Given the description of an element on the screen output the (x, y) to click on. 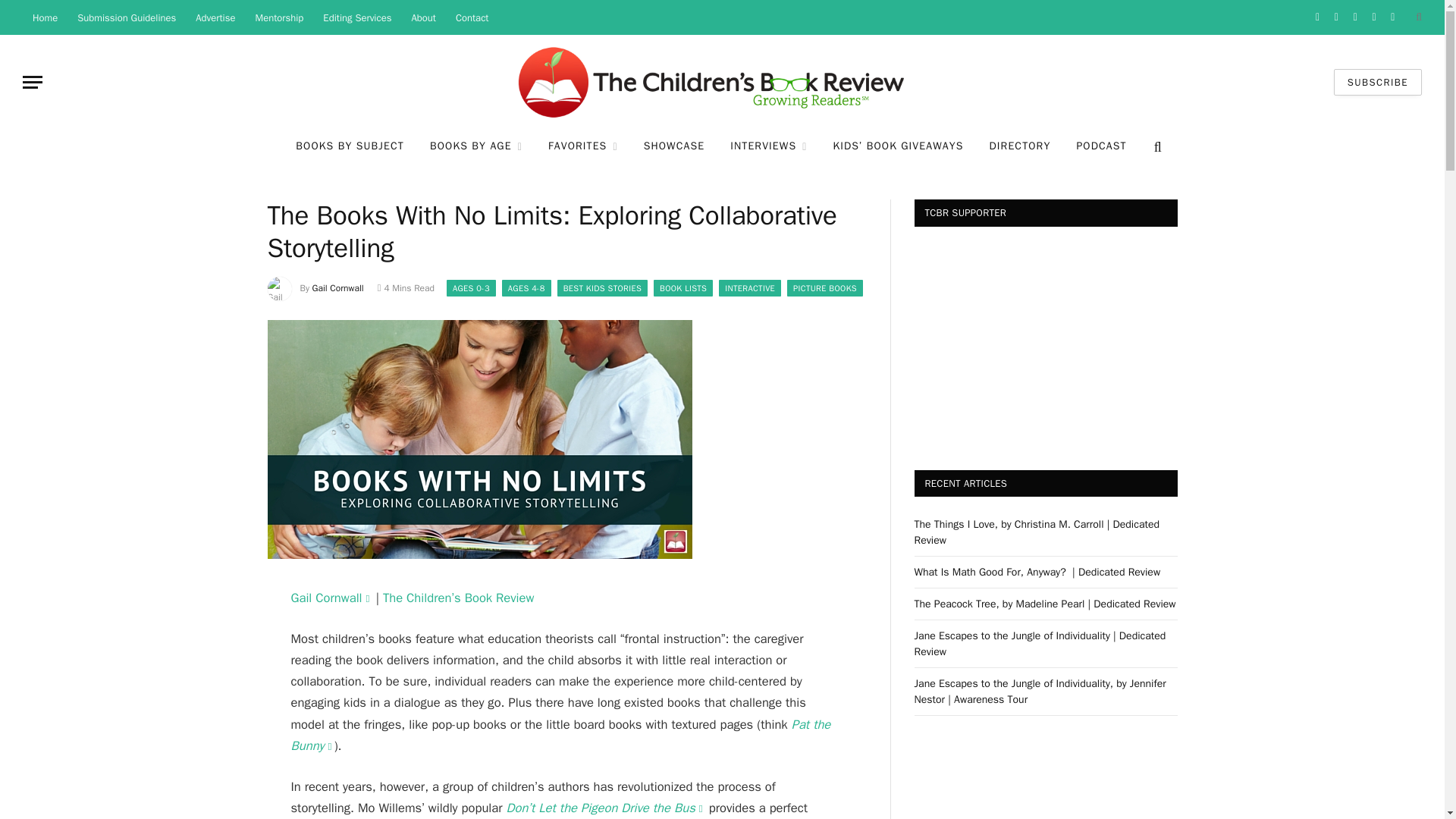
The Children's Book Review (722, 82)
Advertise (215, 17)
BOOKS BY SUBJECT (349, 146)
Submission Guidelines (126, 17)
BOOKS BY AGE (475, 146)
FAVORITES (582, 146)
About (423, 17)
Mentorship (280, 17)
SUBSCRIBE (1377, 81)
Posts by Gail Cornwall (338, 287)
Contact (472, 17)
Home (44, 17)
Editing Services (357, 17)
